Given the description of an element on the screen output the (x, y) to click on. 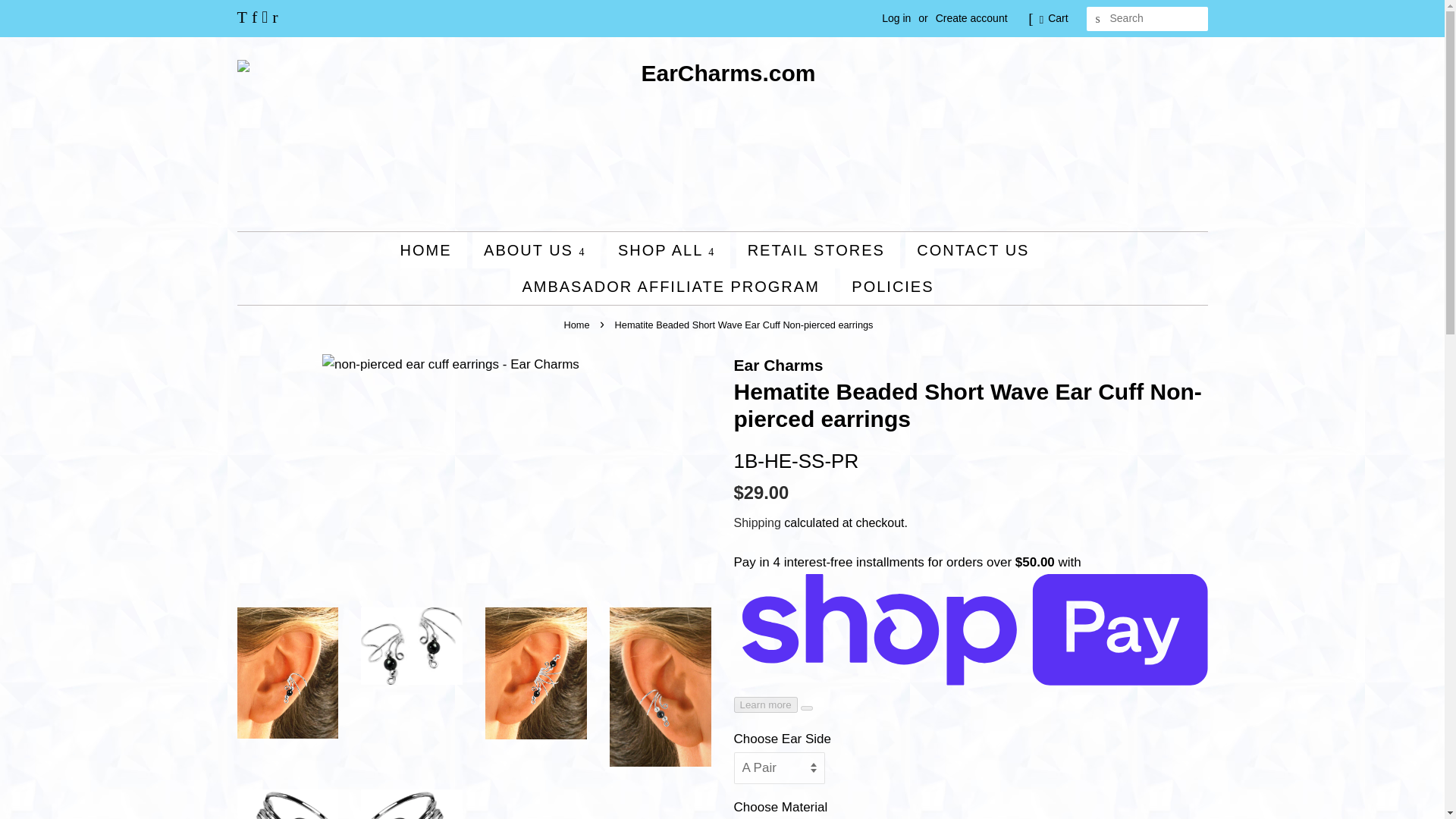
RETAIL STORES (817, 249)
Log in (896, 18)
POLICIES (886, 286)
SHOP ALL (668, 249)
ABOUT US (535, 249)
CONTACT US (974, 249)
Create account (971, 18)
Back to the frontpage (579, 324)
Cart (1057, 18)
HOME (433, 249)
